Given the description of an element on the screen output the (x, y) to click on. 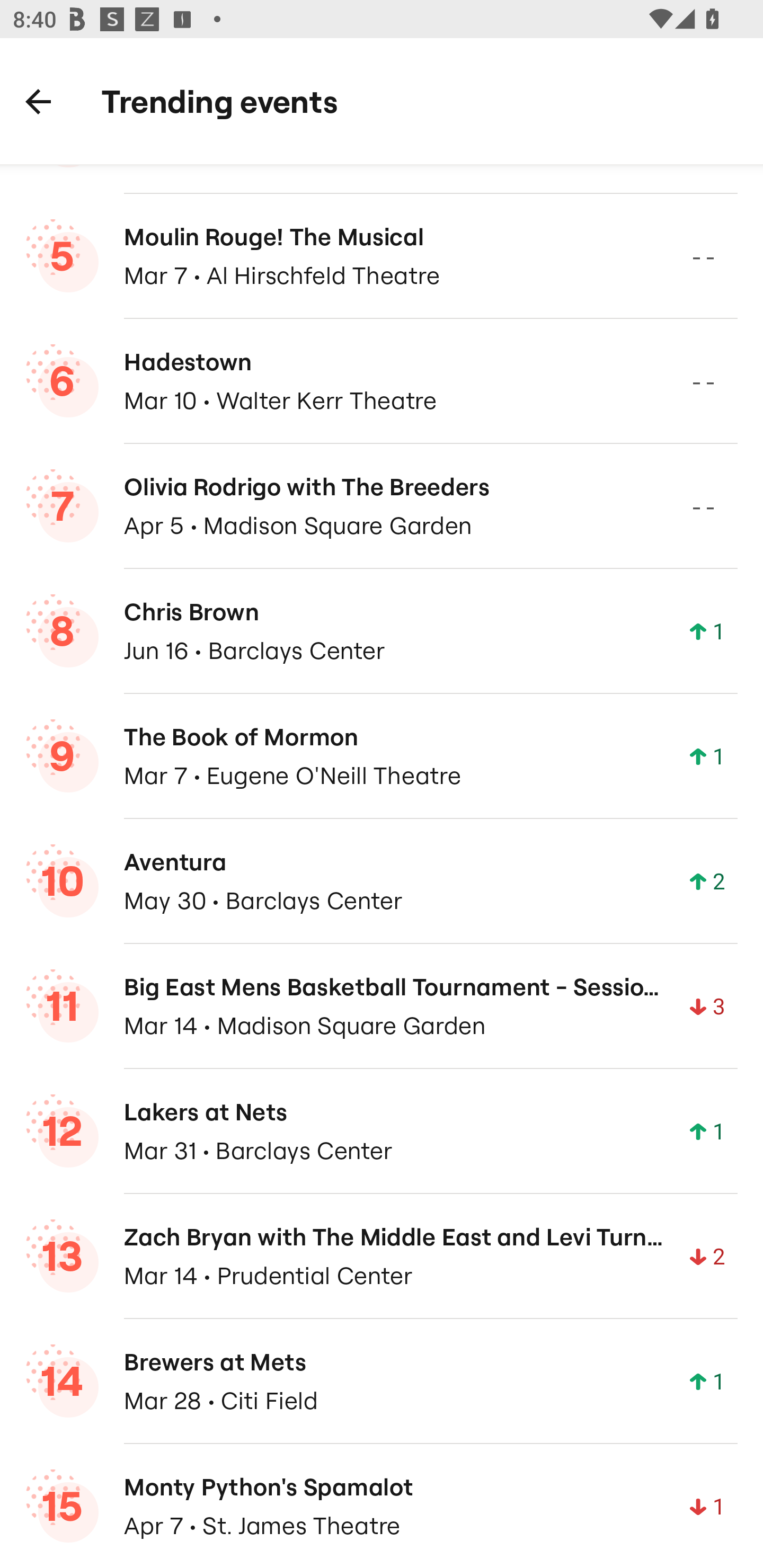
Back (38, 100)
